Given the description of an element on the screen output the (x, y) to click on. 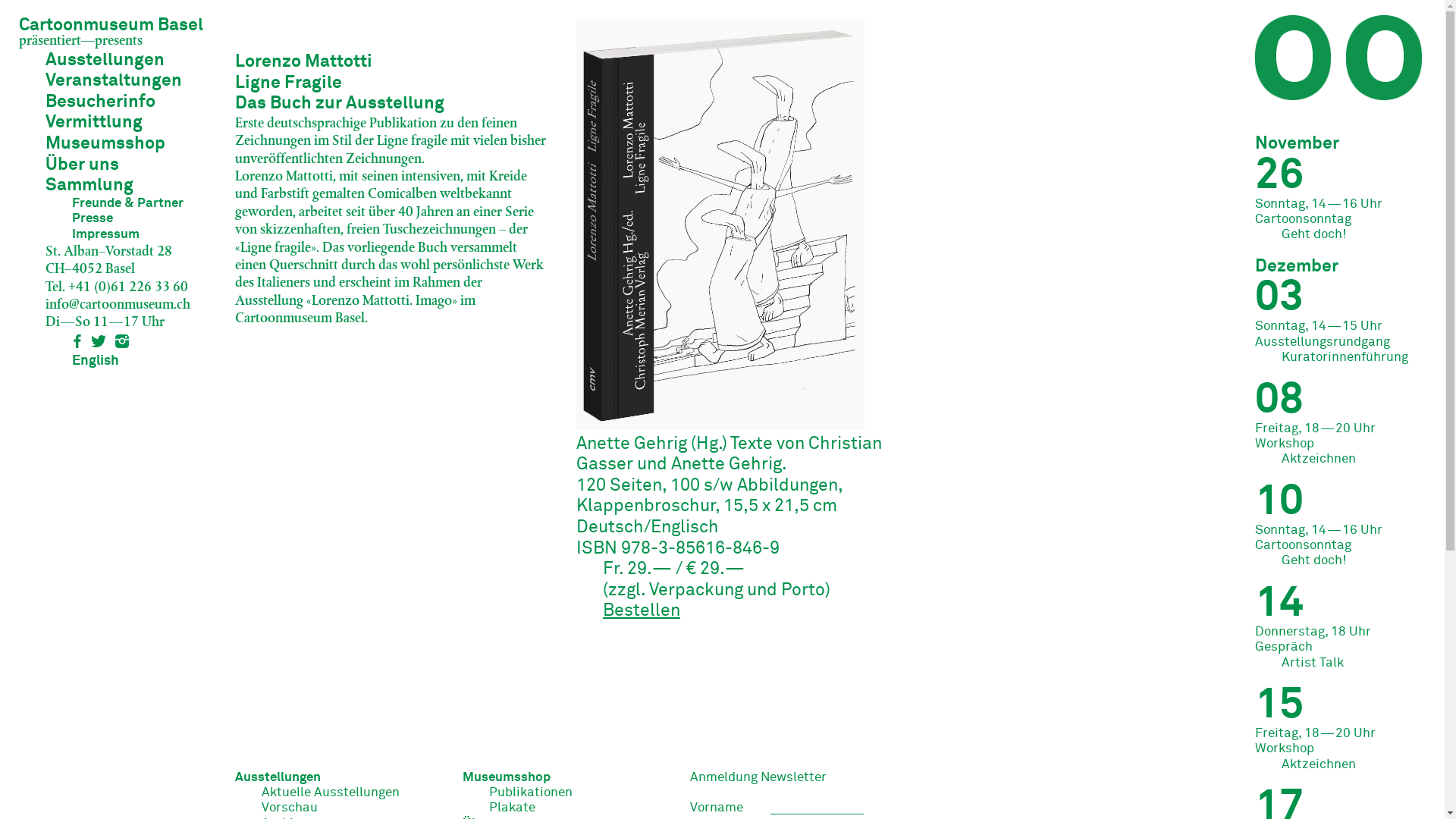
Bestellen Element type: text (641, 610)
Publikationen Element type: text (530, 792)
Plakate Element type: text (512, 807)
Sammlung Element type: text (89, 185)
Freunde & Partner Element type: text (127, 203)
Vorschau Element type: text (289, 807)
Veranstaltungen Element type: text (113, 80)
Museumsshop Element type: text (105, 143)
Impressum Element type: text (105, 234)
Cartoonmuseum Basel Element type: text (110, 25)
Museumsshop Element type: text (506, 777)
Aktuelle Ausstellungen Element type: text (330, 792)
Besucherinfo Element type: text (100, 101)
Ausstellungen Element type: text (277, 777)
English Element type: text (95, 360)
Vermittlung Element type: text (93, 122)
Presse Element type: text (92, 218)
Ausstellungen Element type: text (104, 60)
info@cartoonmuseum.ch Element type: text (117, 303)
